Given the description of an element on the screen output the (x, y) to click on. 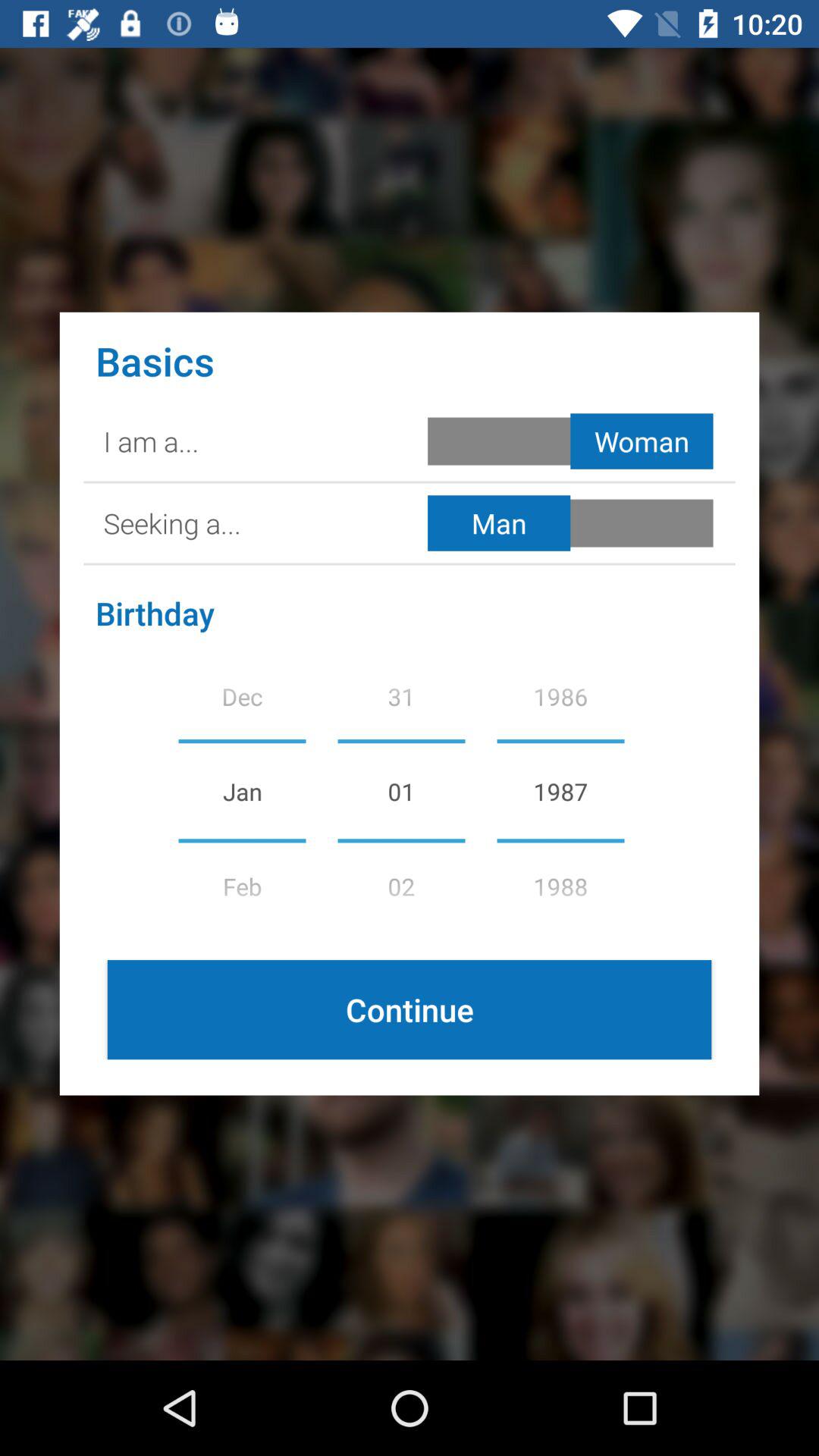
selct in man woman button (573, 523)
